Given the description of an element on the screen output the (x, y) to click on. 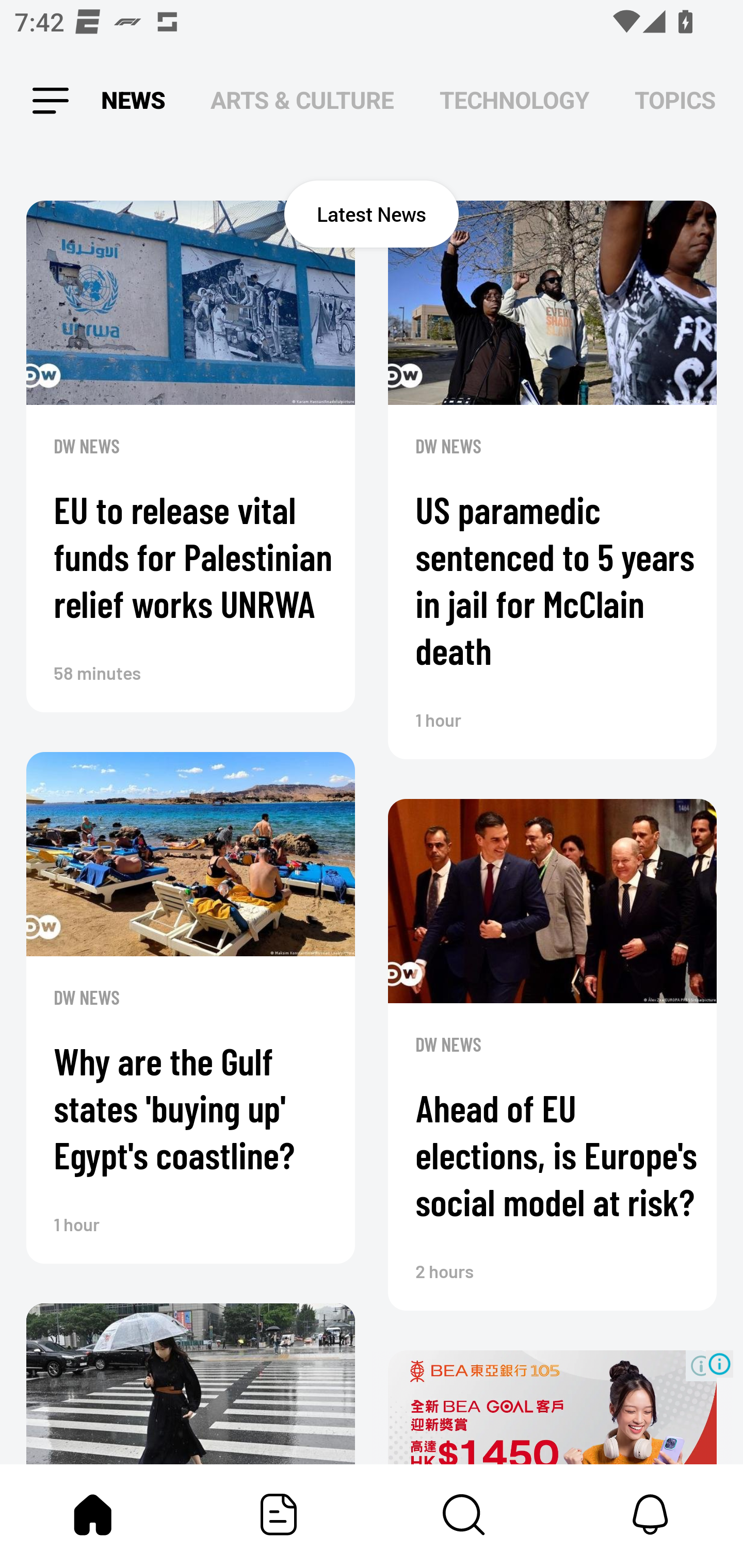
Leading Icon (48, 101)
ARTS & CULTURE (302, 100)
TECHNOLOGY (514, 100)
TOPICS (675, 100)
Latest News (371, 213)
Ad Choices Icon (719, 1364)
Featured (278, 1514)
Content Store (464, 1514)
Notifications (650, 1514)
